Given the description of an element on the screen output the (x, y) to click on. 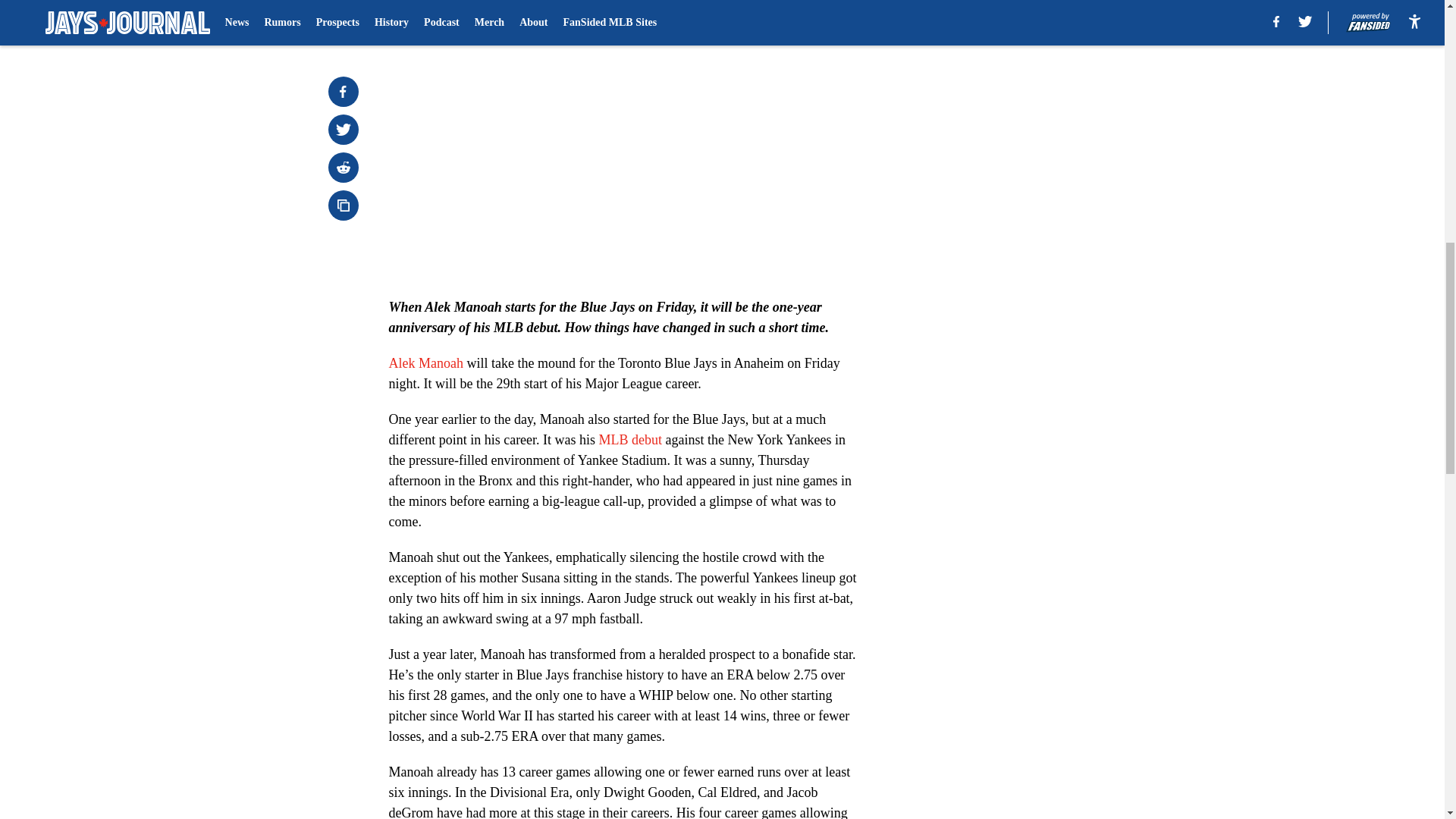
Alek Manoah (425, 363)
MLB debut (630, 439)
